Given the description of an element on the screen output the (x, y) to click on. 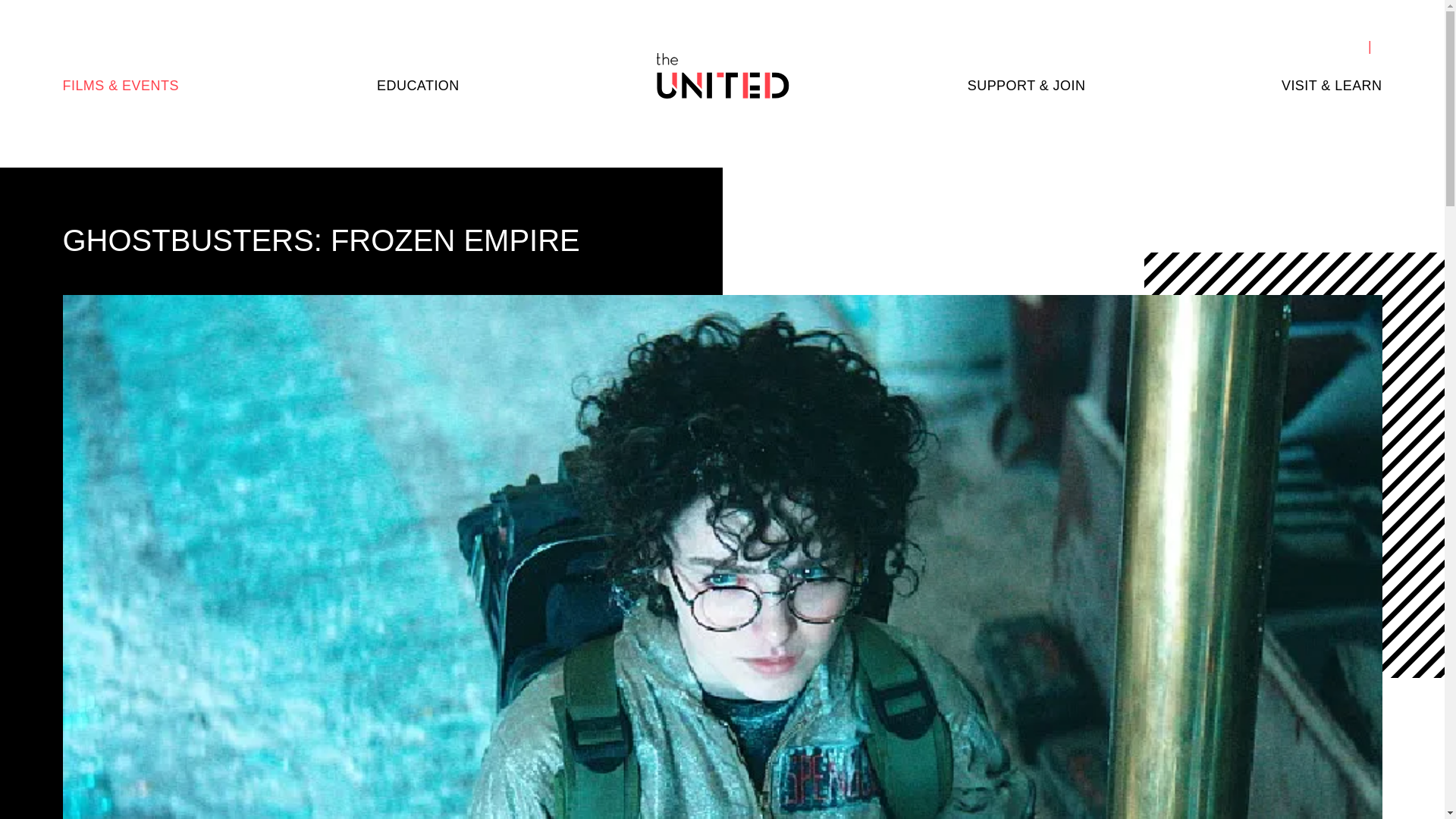
EDUCATION (418, 85)
United Theatre (722, 75)
